Given the description of an element on the screen output the (x, y) to click on. 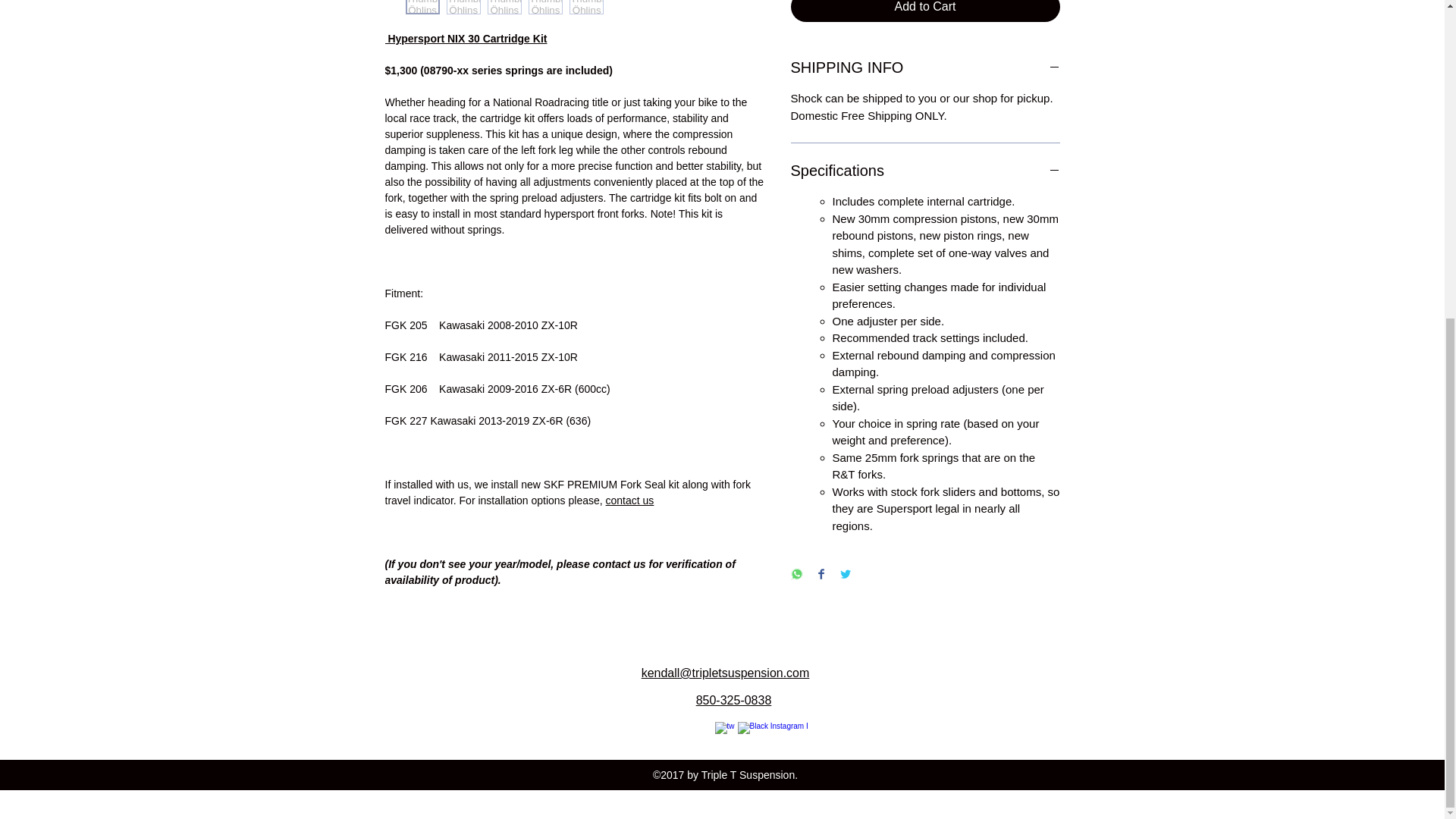
SHIPPING INFO (924, 67)
contact us (629, 500)
Specifications (924, 170)
Add to Cart (924, 11)
850-325-0838 (733, 699)
